Given the description of an element on the screen output the (x, y) to click on. 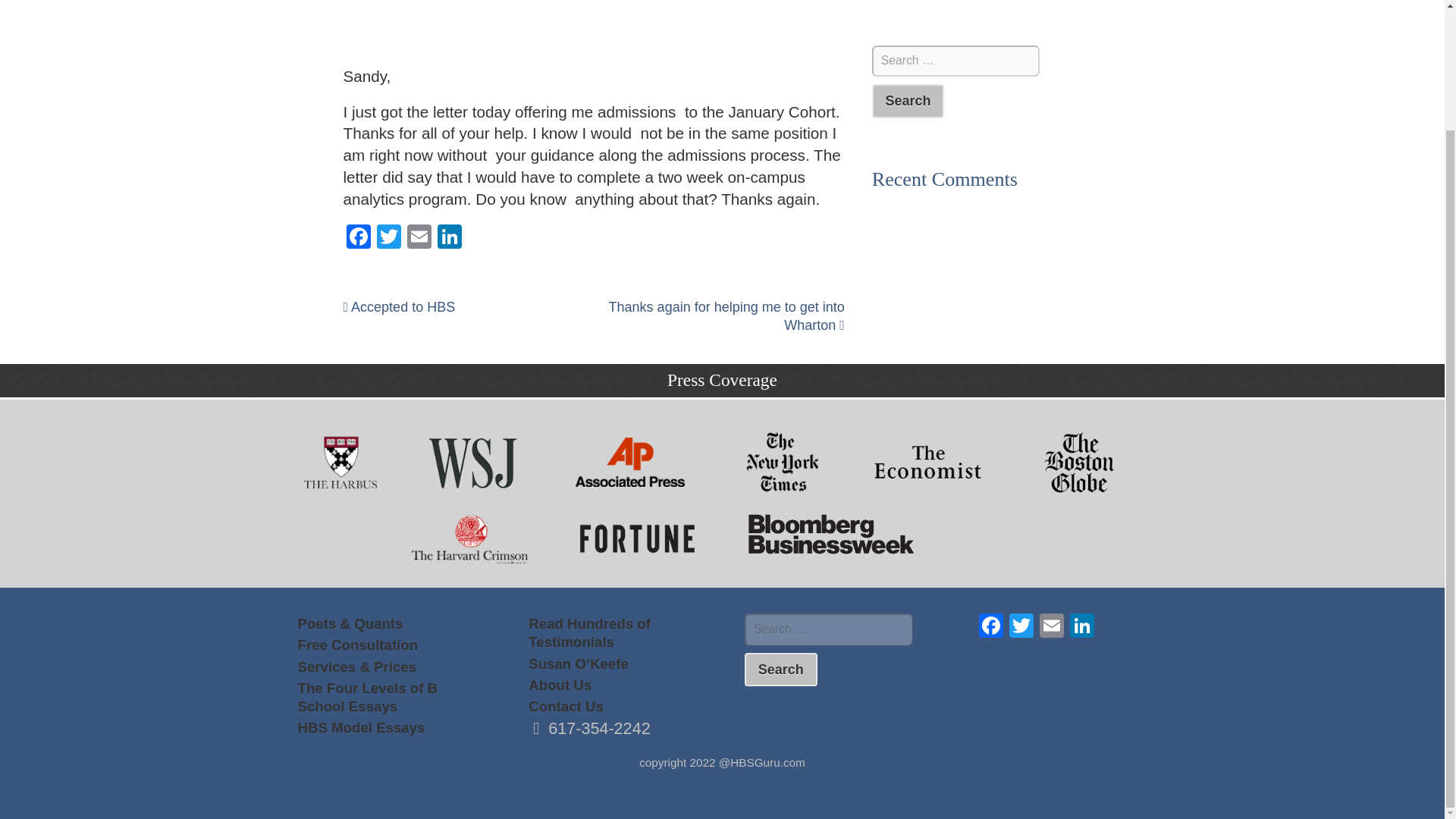
Facebook (990, 627)
LinkedIn (1082, 627)
Search (780, 669)
Search (908, 100)
Email (418, 238)
Search (908, 100)
Search (780, 669)
LinkedIn (448, 238)
Twitter (387, 238)
Facebook (357, 238)
